Given the description of an element on the screen output the (x, y) to click on. 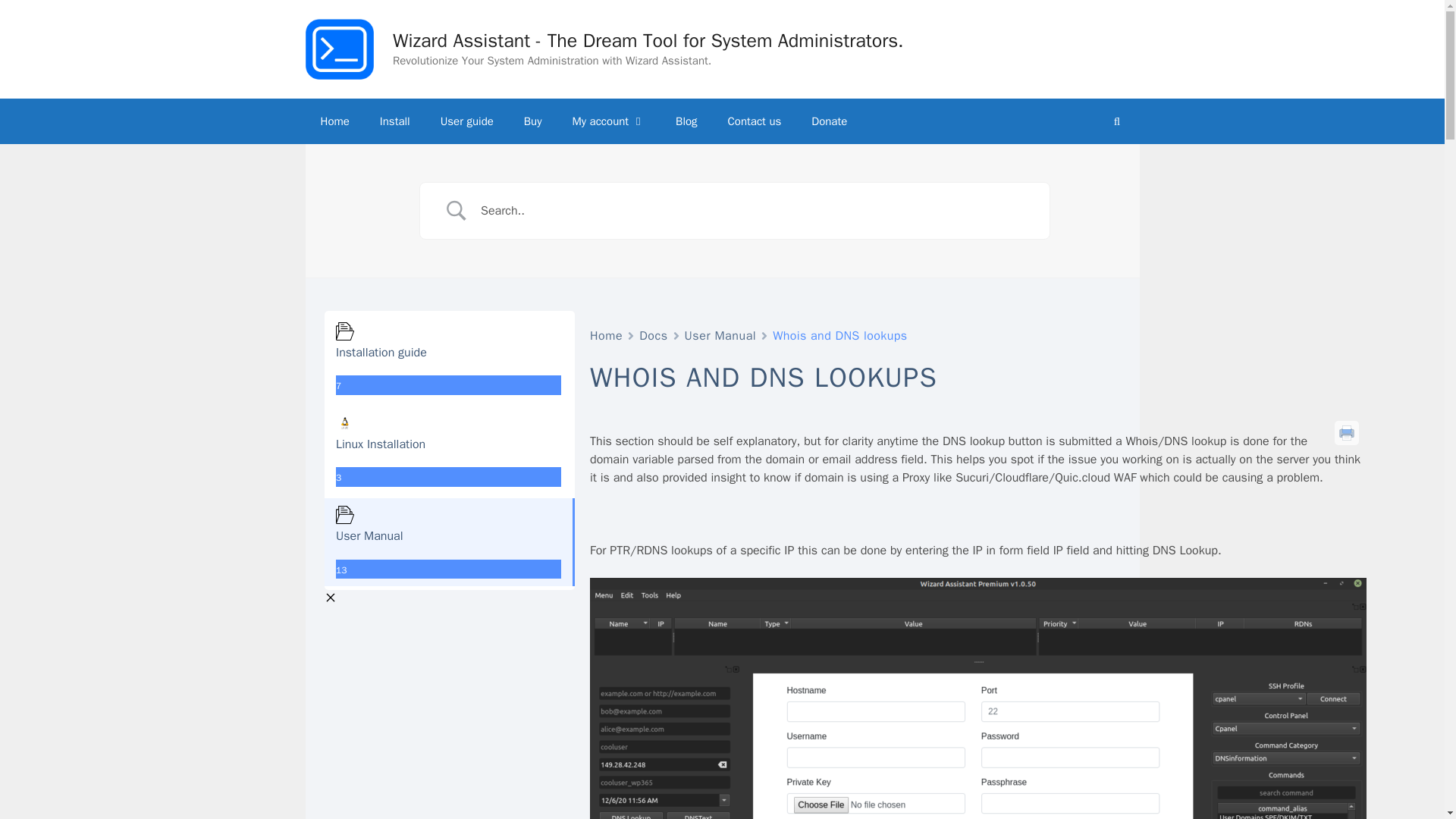
My account (608, 121)
Buy (532, 121)
Donate (828, 121)
Docs (652, 335)
User guide (466, 121)
Home (606, 335)
Wizard Assistant - The Dream Tool for System Administrators. (648, 40)
Contact us (754, 121)
Home (334, 121)
Install (395, 121)
